Given the description of an element on the screen output the (x, y) to click on. 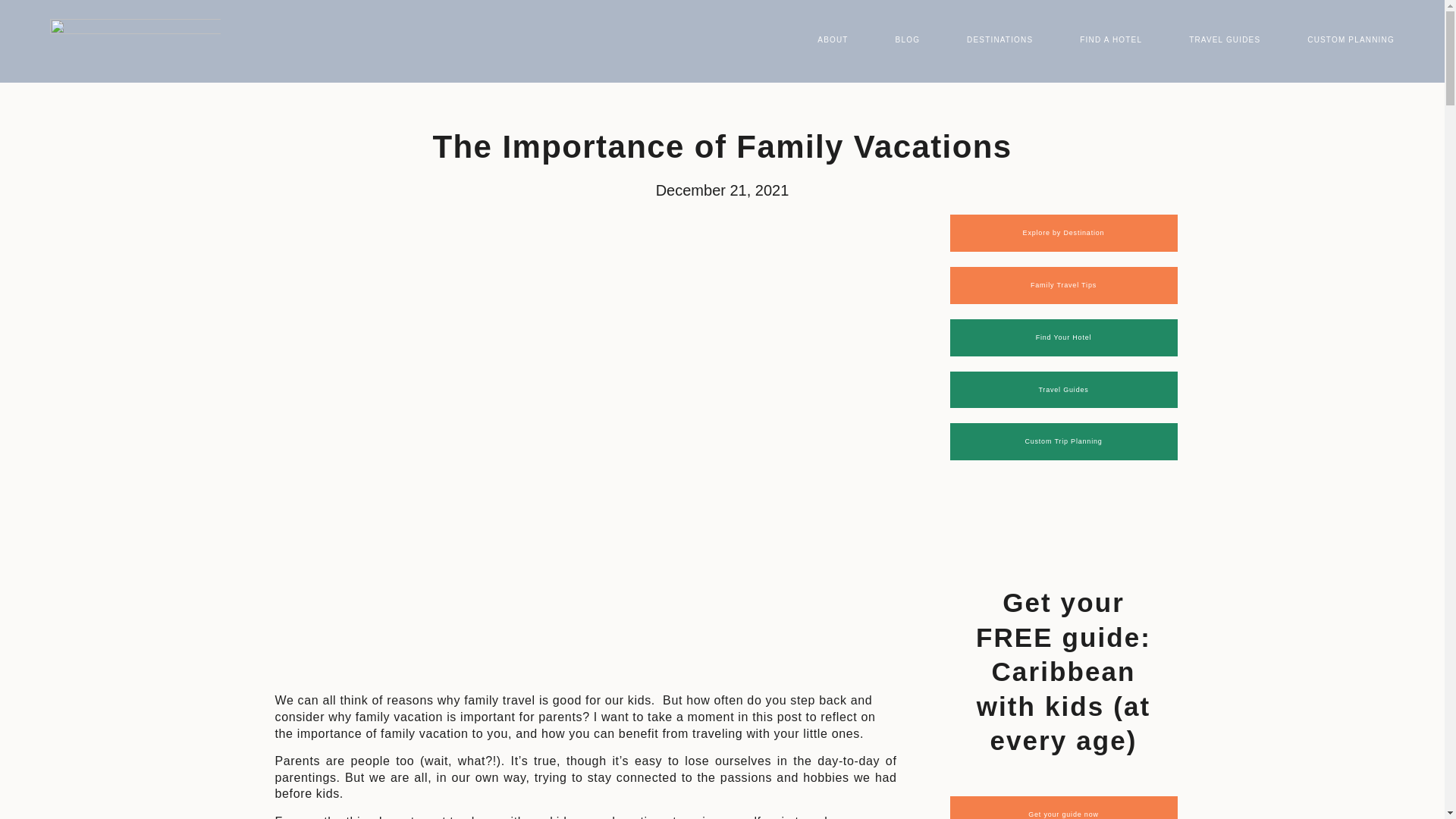
CUSTOM PLANNING (1350, 41)
ABOUT (831, 41)
DESTINATIONS (998, 41)
TRAVEL GUIDES (1224, 41)
BLOG (906, 41)
FIND A HOTEL (1109, 41)
